Given the description of an element on the screen output the (x, y) to click on. 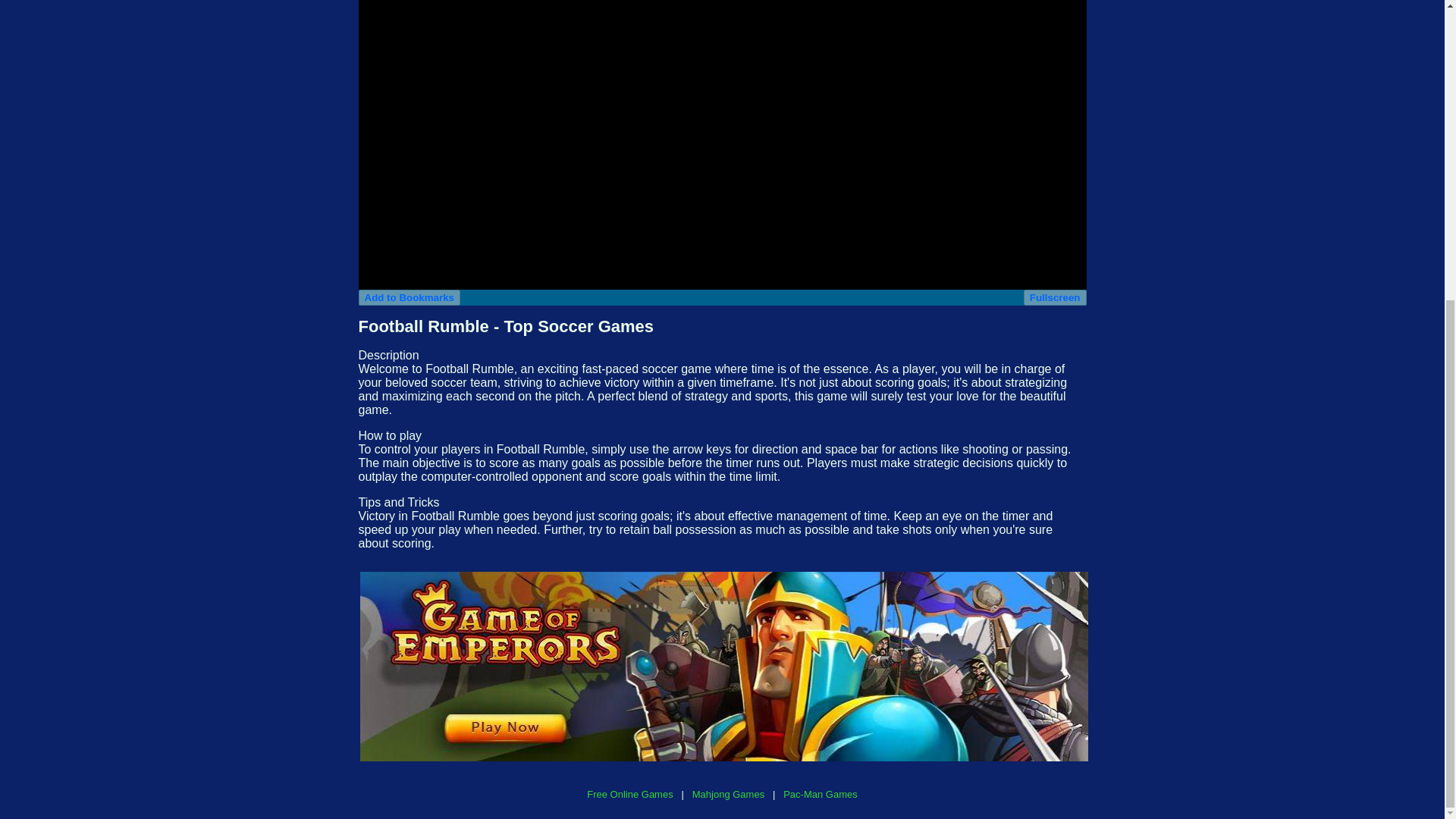
Add to Bookmarks (409, 297)
Mahjong Games (728, 794)
Fullscreen (1054, 297)
Free Online Games (629, 794)
Pac-Man Games (820, 794)
